Given the description of an element on the screen output the (x, y) to click on. 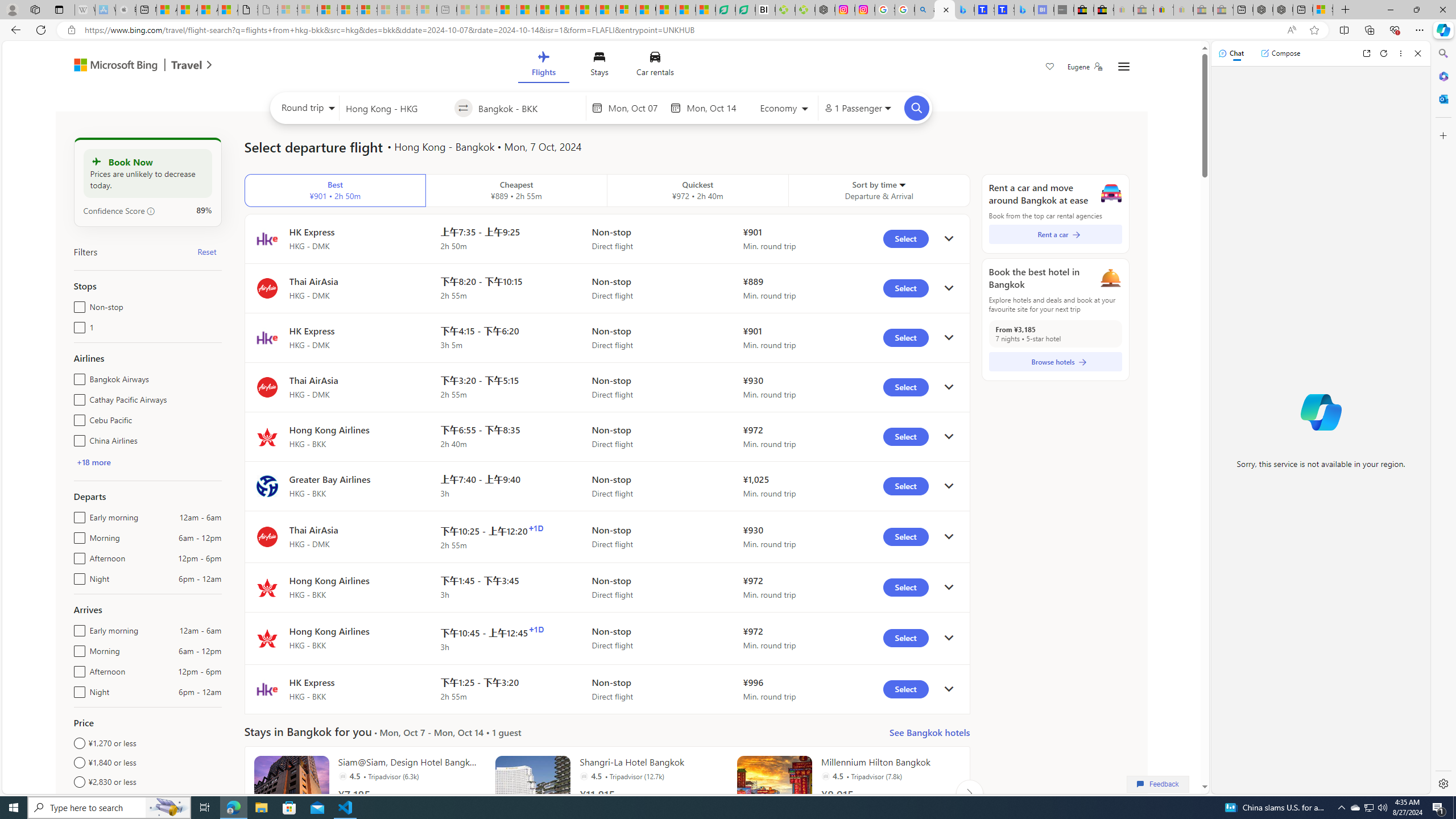
Non-stop (76, 304)
Reset (206, 251)
Microsoft account | Account Checkup - Sleeping (427, 9)
Press Room - eBay Inc. - Sleeping (1203, 9)
Class: trvl-hub-header nofilter (601, 65)
